Given the description of an element on the screen output the (x, y) to click on. 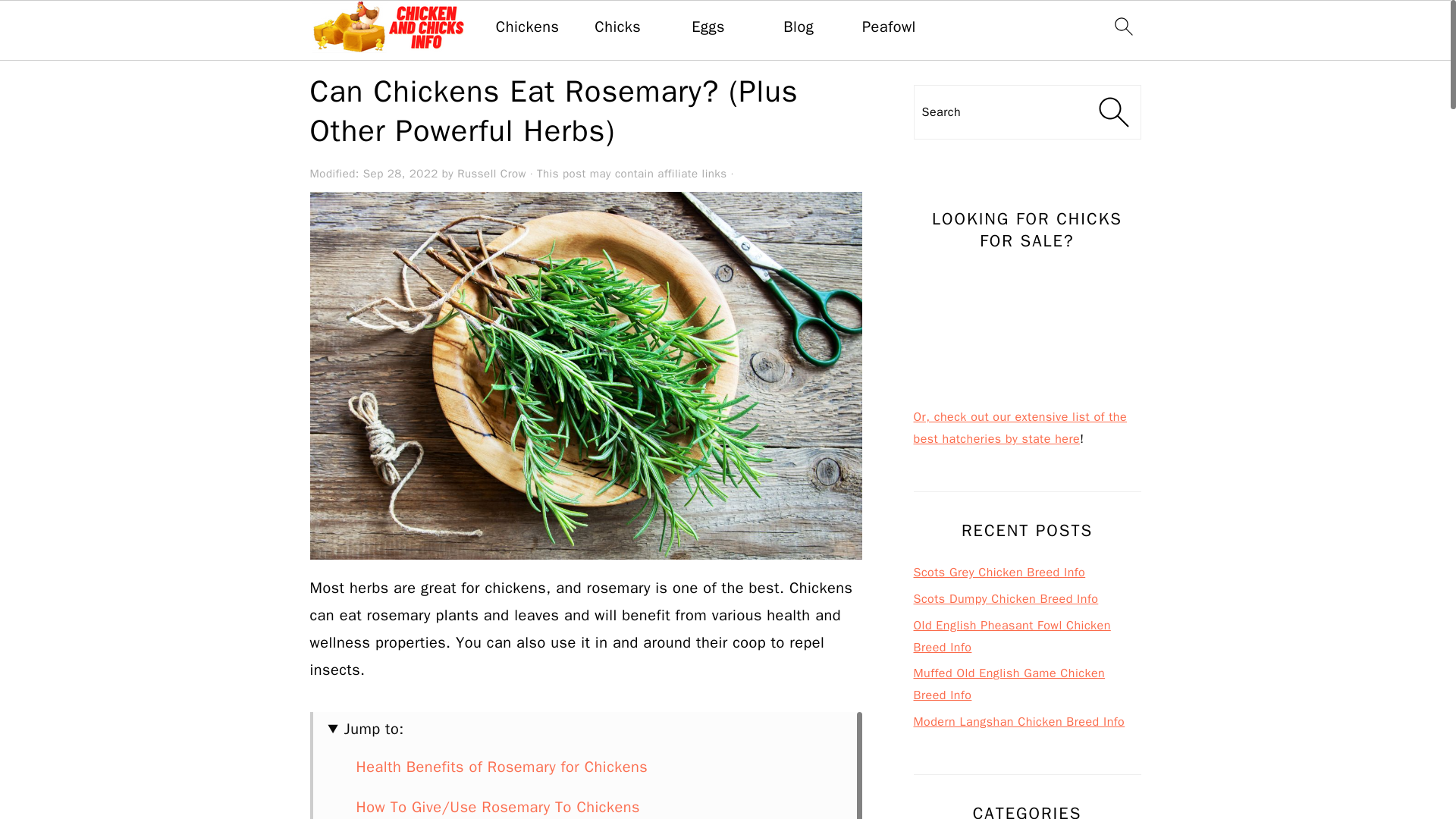
Chicks (617, 27)
search icon (1122, 26)
Health Benefits of Rosemary for Chickens (501, 766)
Blog (798, 27)
Chickens (527, 27)
Eggs (708, 27)
Peafowl (888, 27)
